Given the description of an element on the screen output the (x, y) to click on. 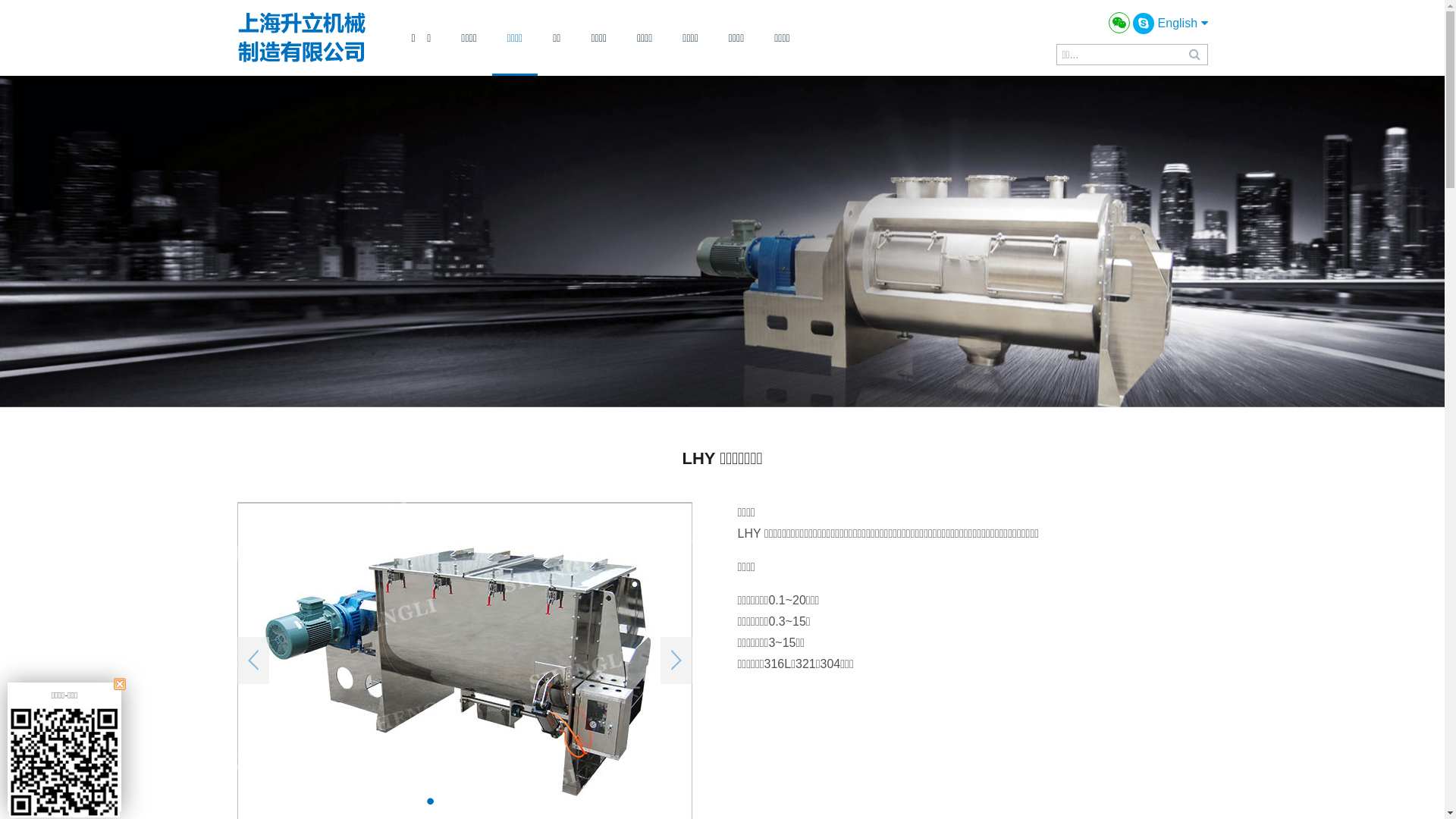
4 Element type: text (498, 800)
Next Element type: text (675, 660)
1 Element type: text (430, 800)
3 Element type: text (475, 800)
Previous Element type: text (252, 660)
English Element type: text (1182, 22)
2 Element type: text (453, 800)
